Given the description of an element on the screen output the (x, y) to click on. 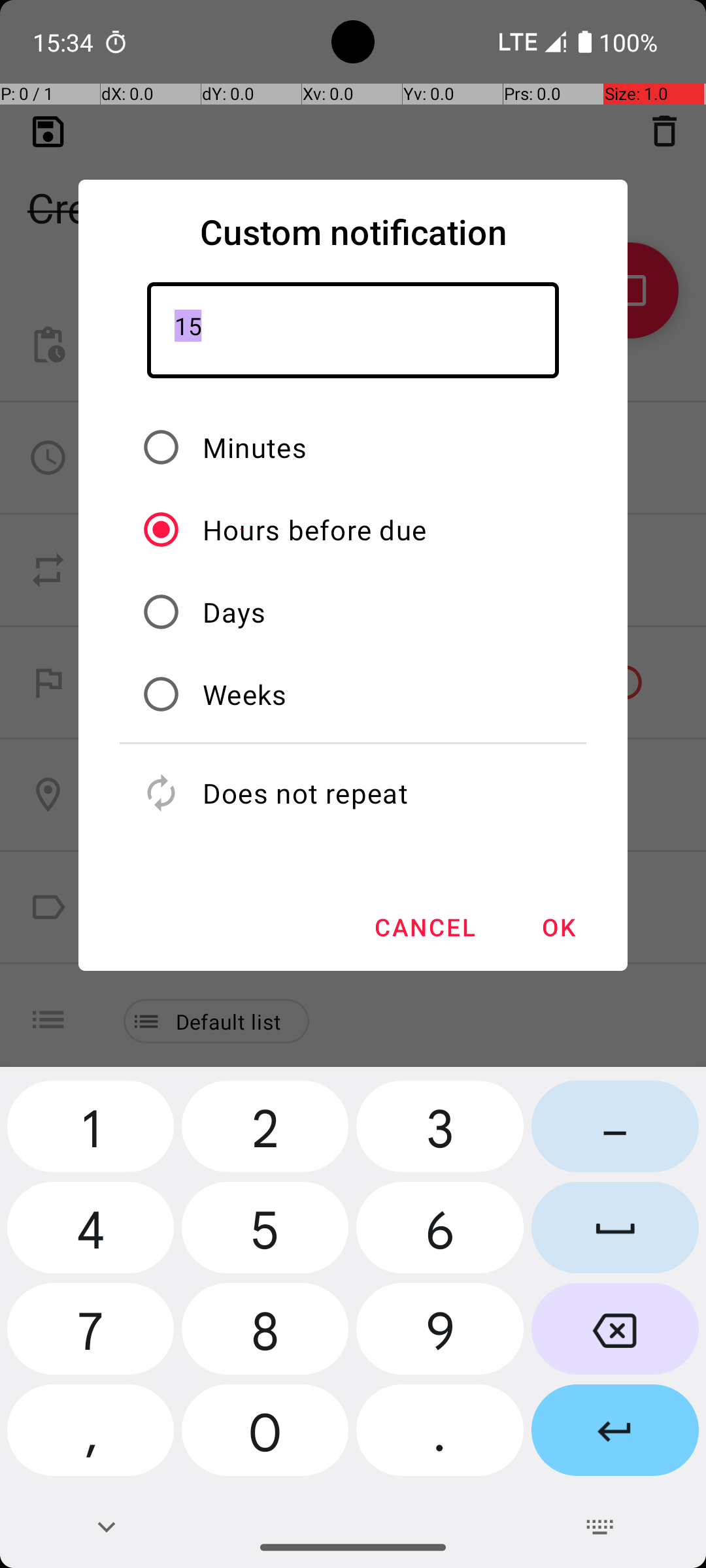
Custom notification Element type: android.widget.TextView (352, 231)
Minutes Element type: android.widget.TextView (254, 446)
Hours before due Element type: android.widget.TextView (314, 529)
Days Element type: android.widget.TextView (233, 611)
Weeks Element type: android.widget.TextView (244, 693)
